Given the description of an element on the screen output the (x, y) to click on. 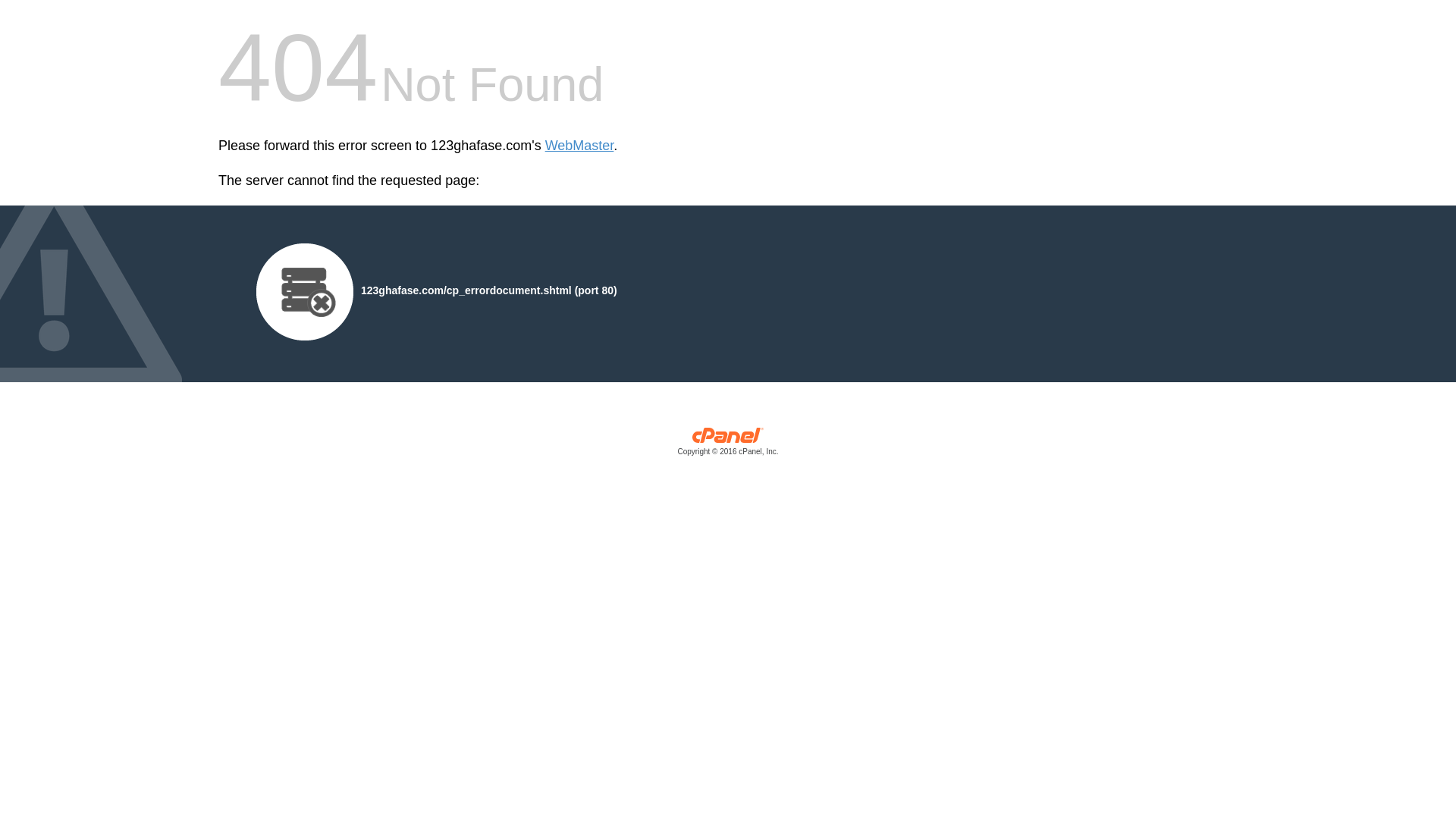
WebMaster Element type: text (579, 145)
